Given the description of an element on the screen output the (x, y) to click on. 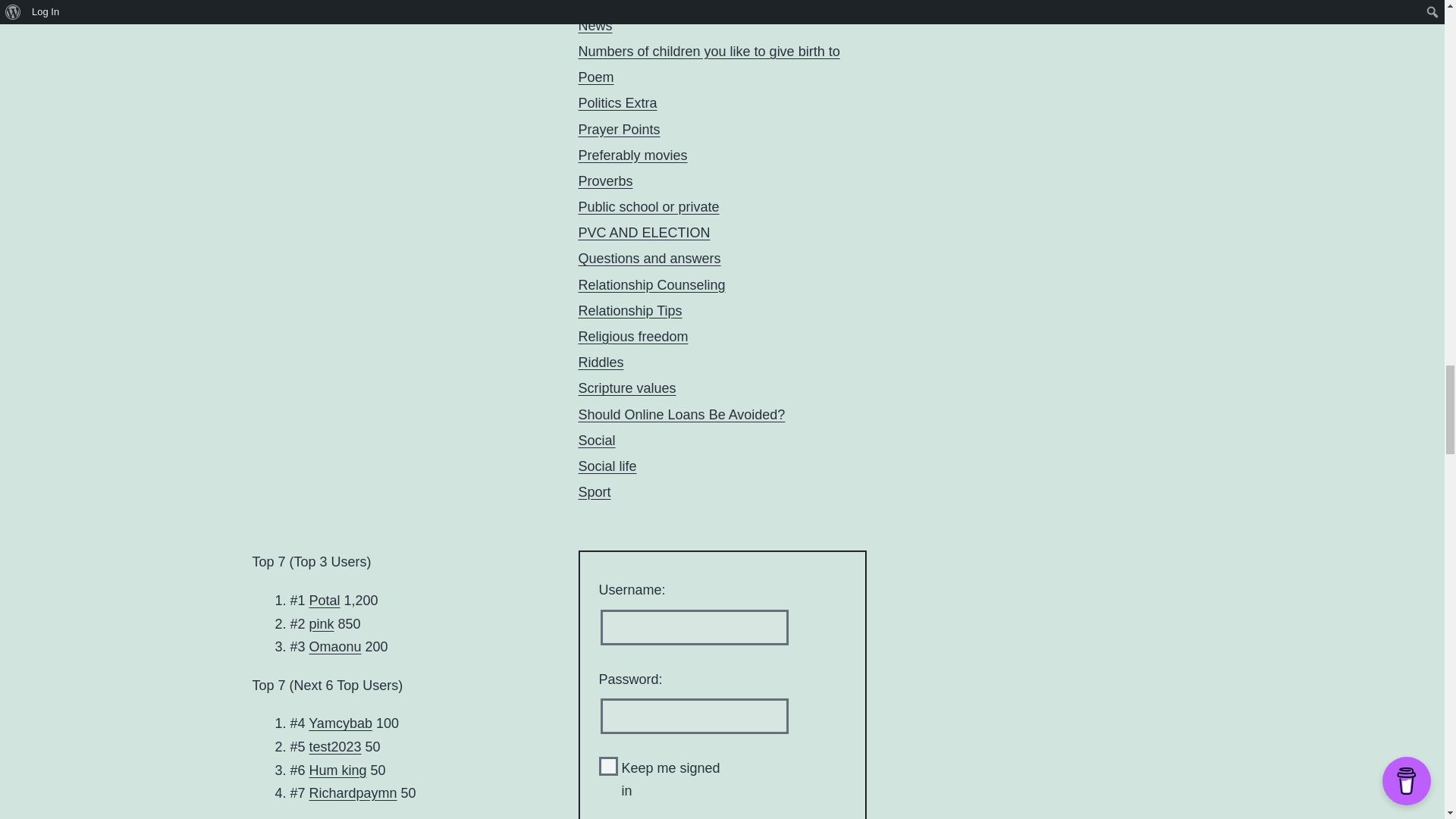
forever (607, 765)
